Given the description of an element on the screen output the (x, y) to click on. 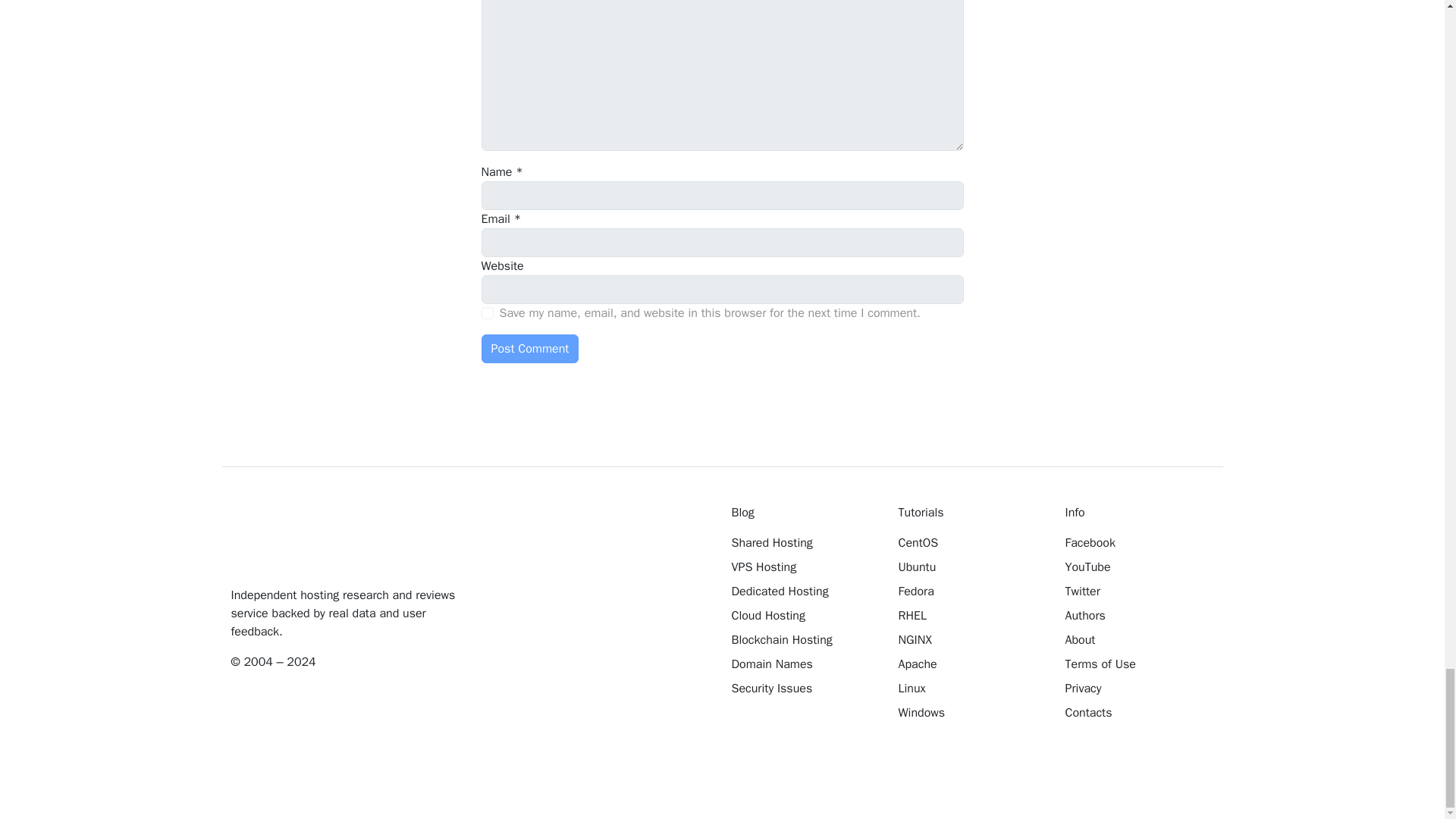
Shared Hosting (803, 542)
Post Comment (529, 348)
yes (486, 313)
Post Comment (529, 348)
